Given the description of an element on the screen output the (x, y) to click on. 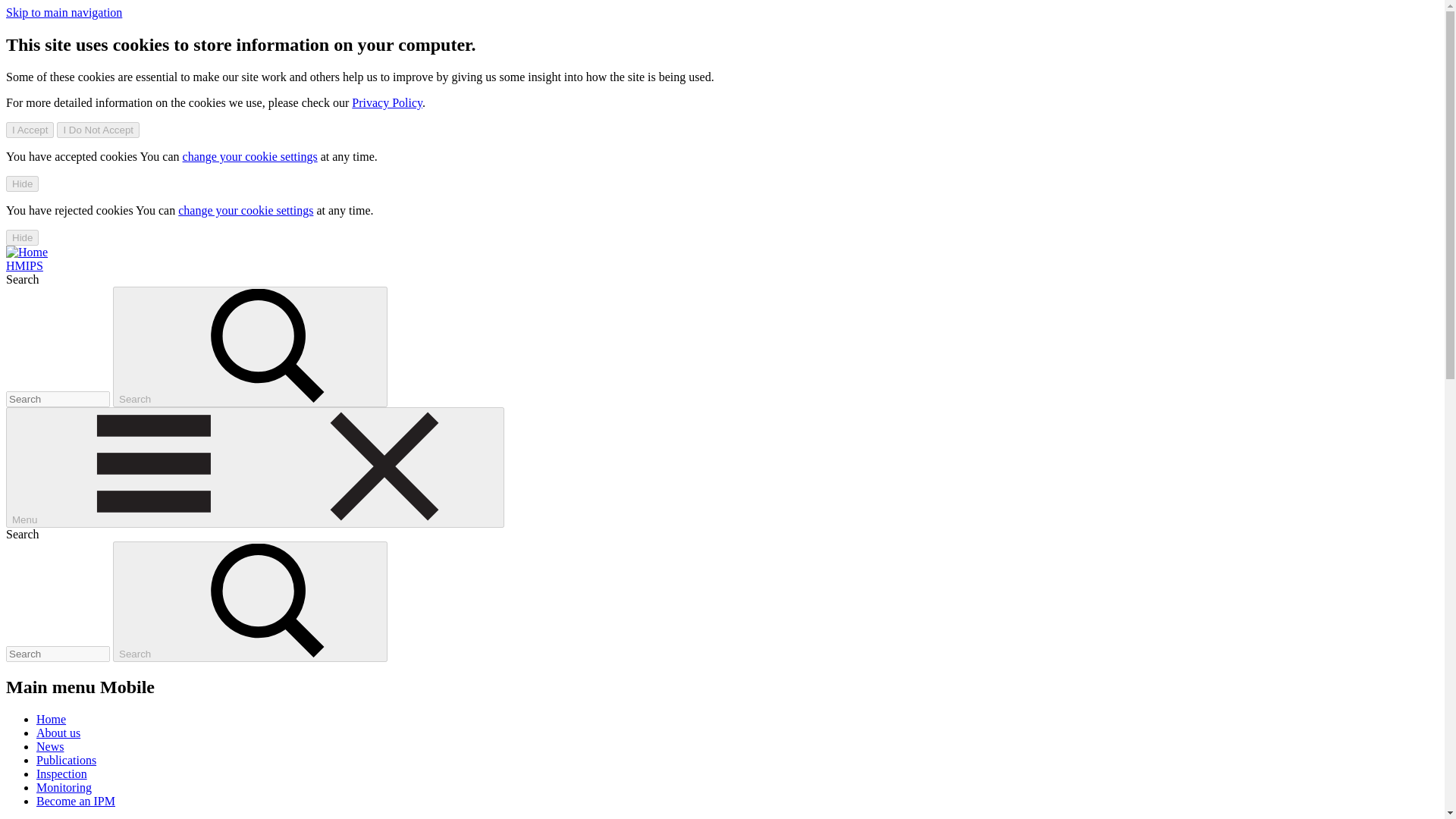
Monitoring (63, 787)
Inspection (61, 773)
Monitoring (63, 787)
search (267, 345)
Home (26, 251)
change your cookie settings (250, 155)
Skip to main navigation (63, 11)
Enter the terms you wish to search for. (57, 653)
Home (24, 265)
Enter the terms you wish to search for. (57, 399)
